Given the description of an element on the screen output the (x, y) to click on. 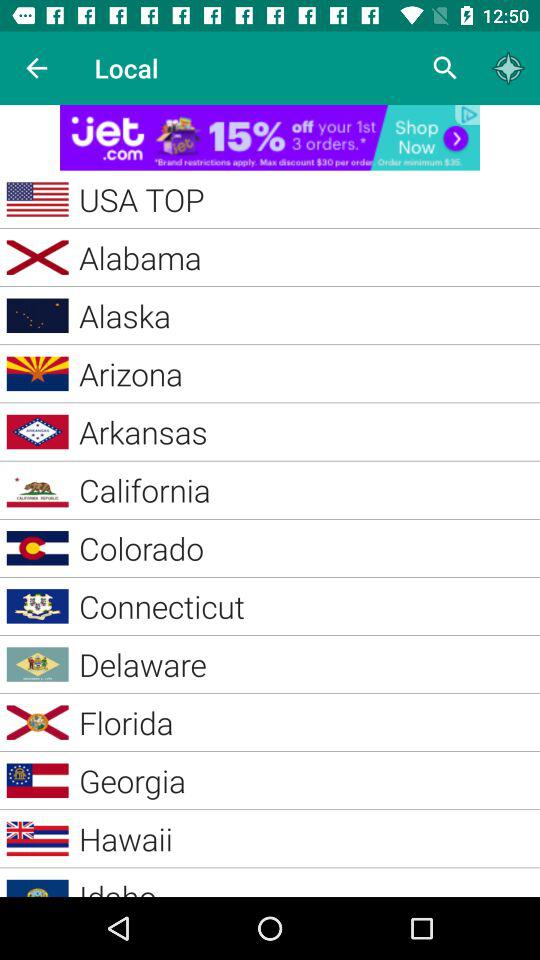
for advertisement (270, 137)
